Given the description of an element on the screen output the (x, y) to click on. 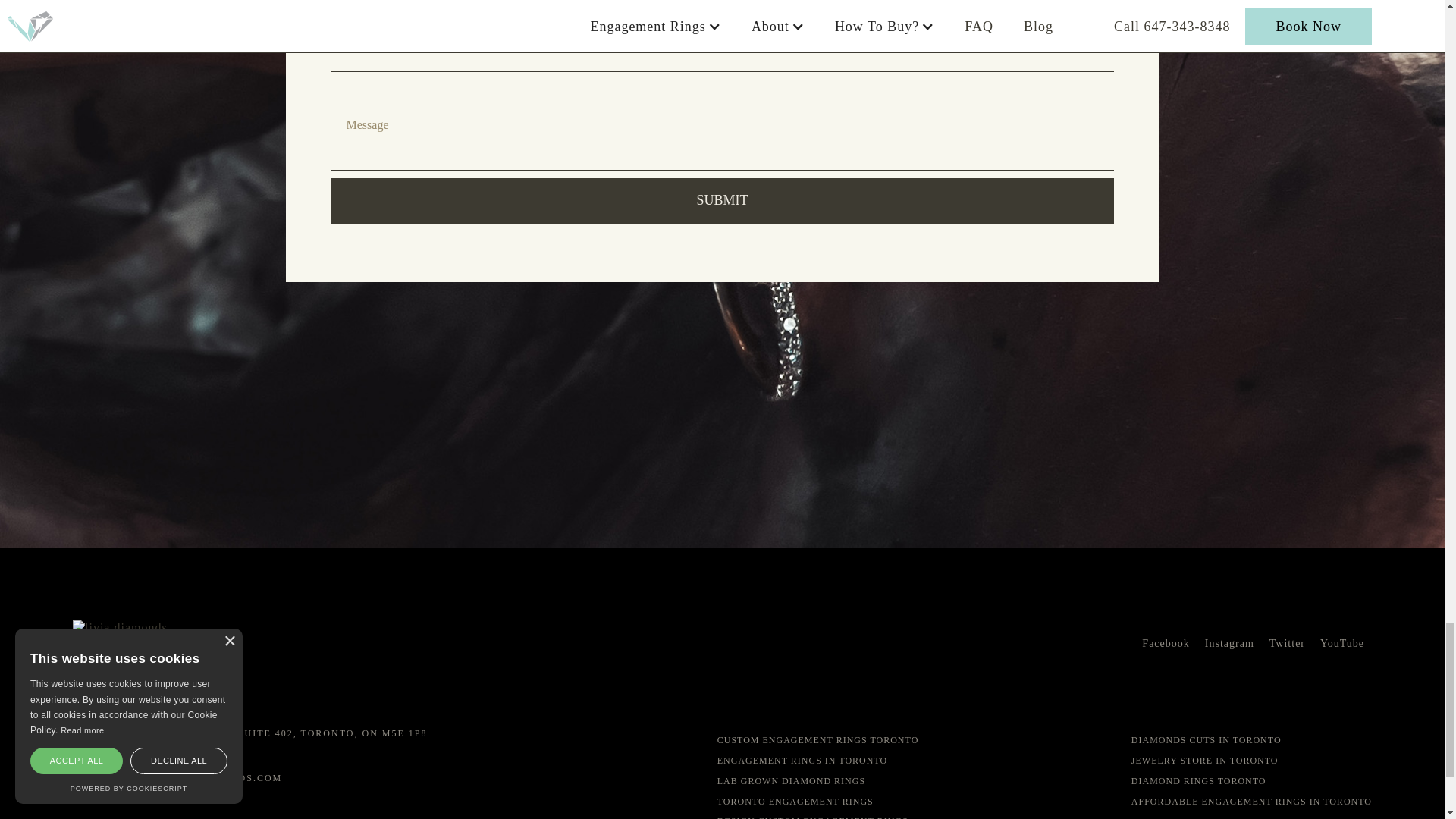
Facebook (1165, 643)
Twitter (1286, 643)
Instagram (1229, 643)
YouTube (1342, 643)
Submit (721, 200)
Submit (721, 200)
